Given the description of an element on the screen output the (x, y) to click on. 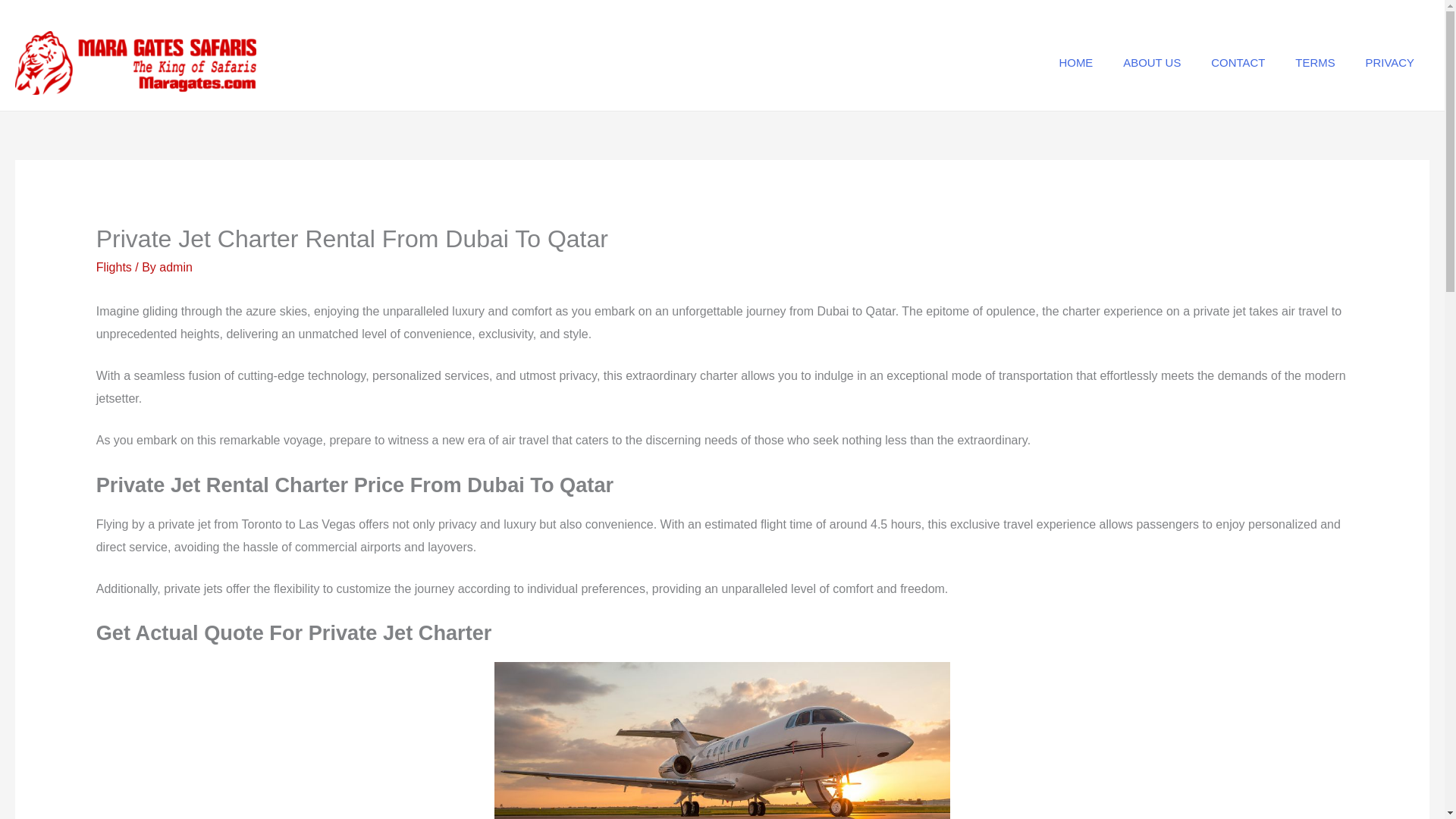
Contact (1390, 62)
About Us (1314, 62)
TERMS (1314, 62)
ABOUT US (1151, 62)
admin (175, 267)
HOME (1075, 62)
PRIVACY (1390, 62)
Flights (114, 267)
CONTACT (1237, 62)
View all posts by admin (175, 267)
